Given the description of an element on the screen output the (x, y) to click on. 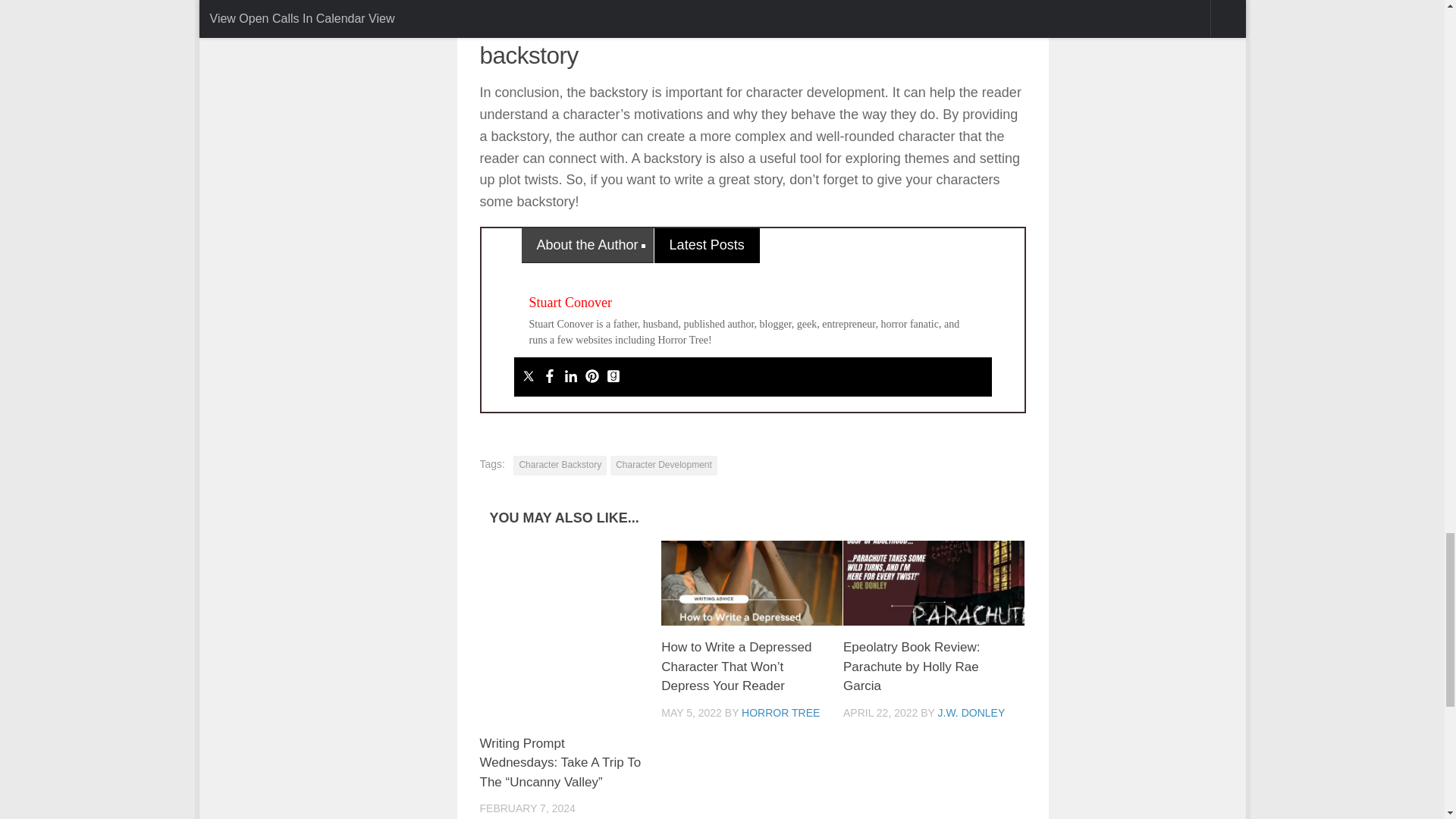
Posts by Horror Tree (780, 712)
Posts by J.W. Donley (971, 712)
